Given the description of an element on the screen output the (x, y) to click on. 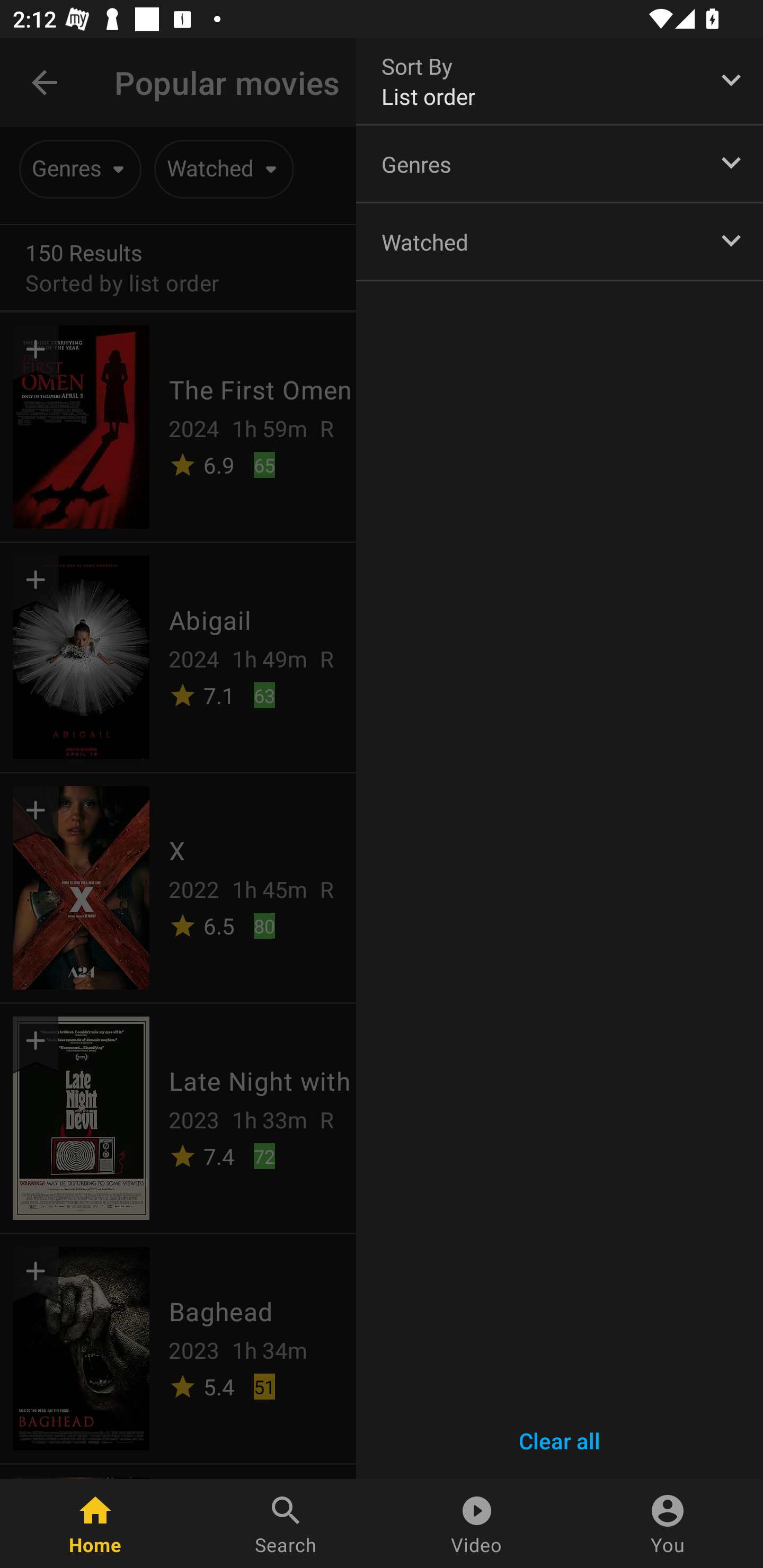
Sort By List order (559, 80)
Genres (559, 163)
Watched (559, 241)
Clear all (559, 1440)
Search (285, 1523)
Video (476, 1523)
You (667, 1523)
